Given the description of an element on the screen output the (x, y) to click on. 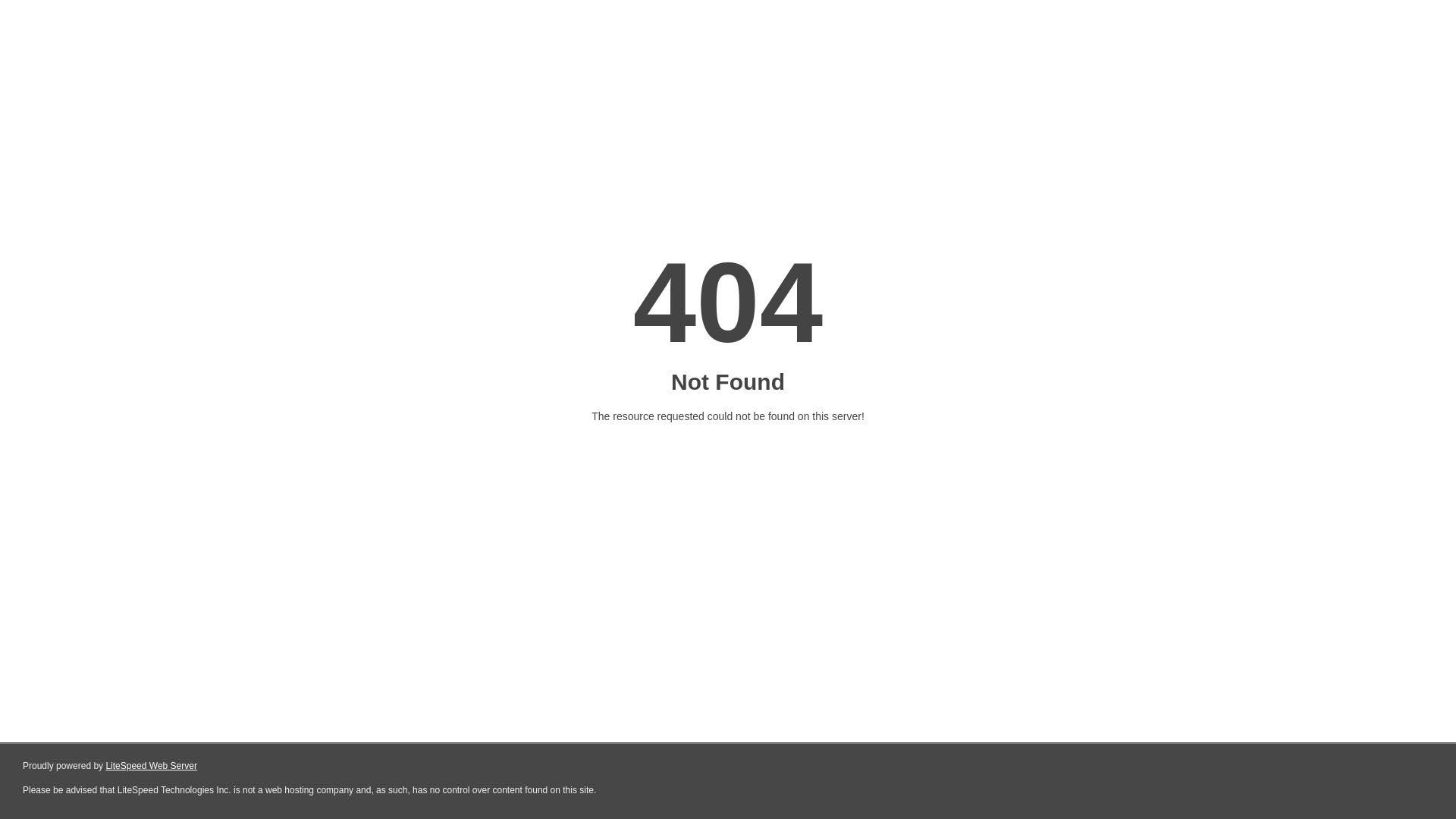
LiteSpeed Web Server Element type: text (151, 765)
